Given the description of an element on the screen output the (x, y) to click on. 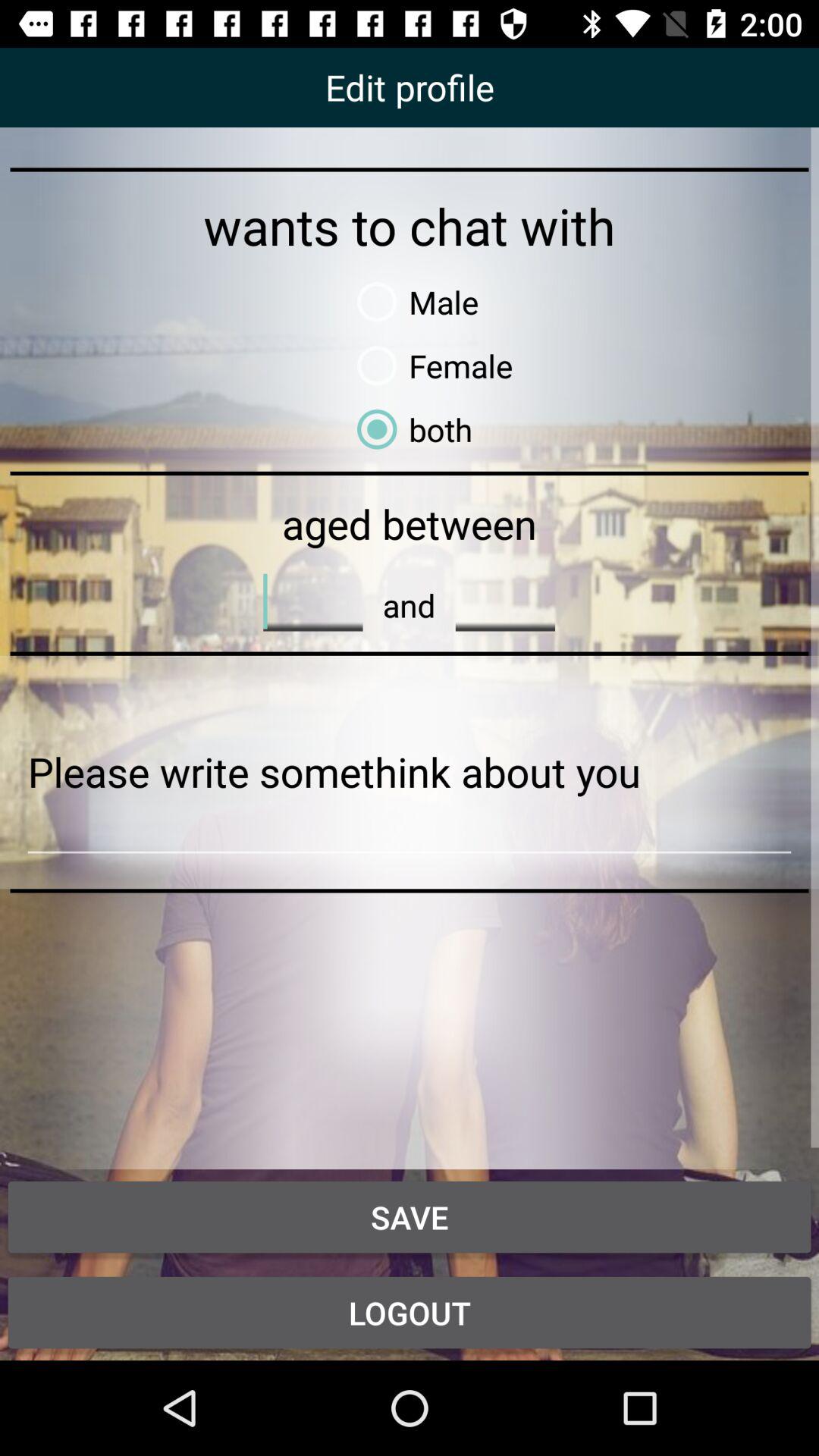
word typeing line (312, 601)
